Given the description of an element on the screen output the (x, y) to click on. 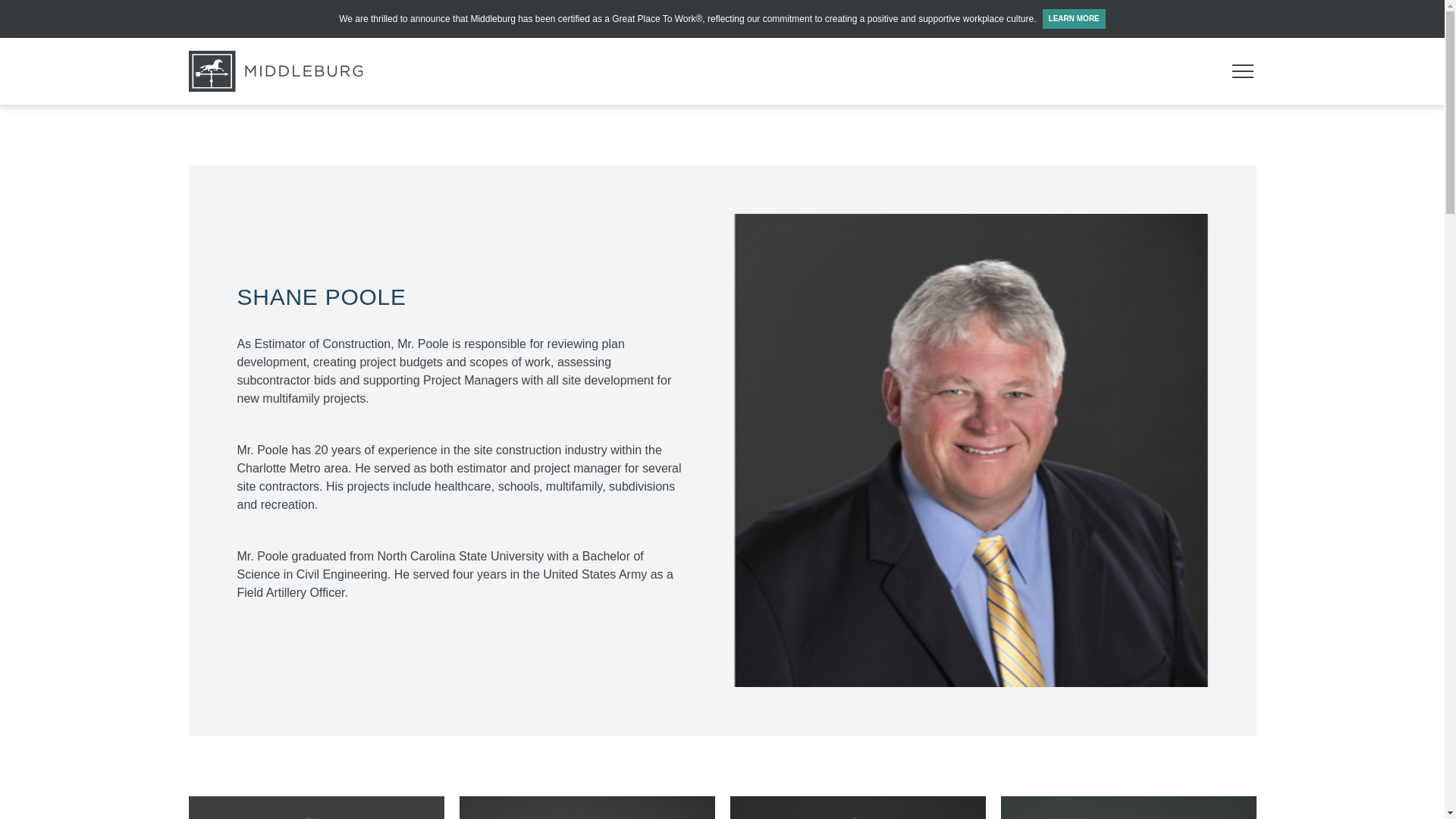
Middleburg (274, 70)
LEARN MORE (1073, 18)
